Given the description of an element on the screen output the (x, y) to click on. 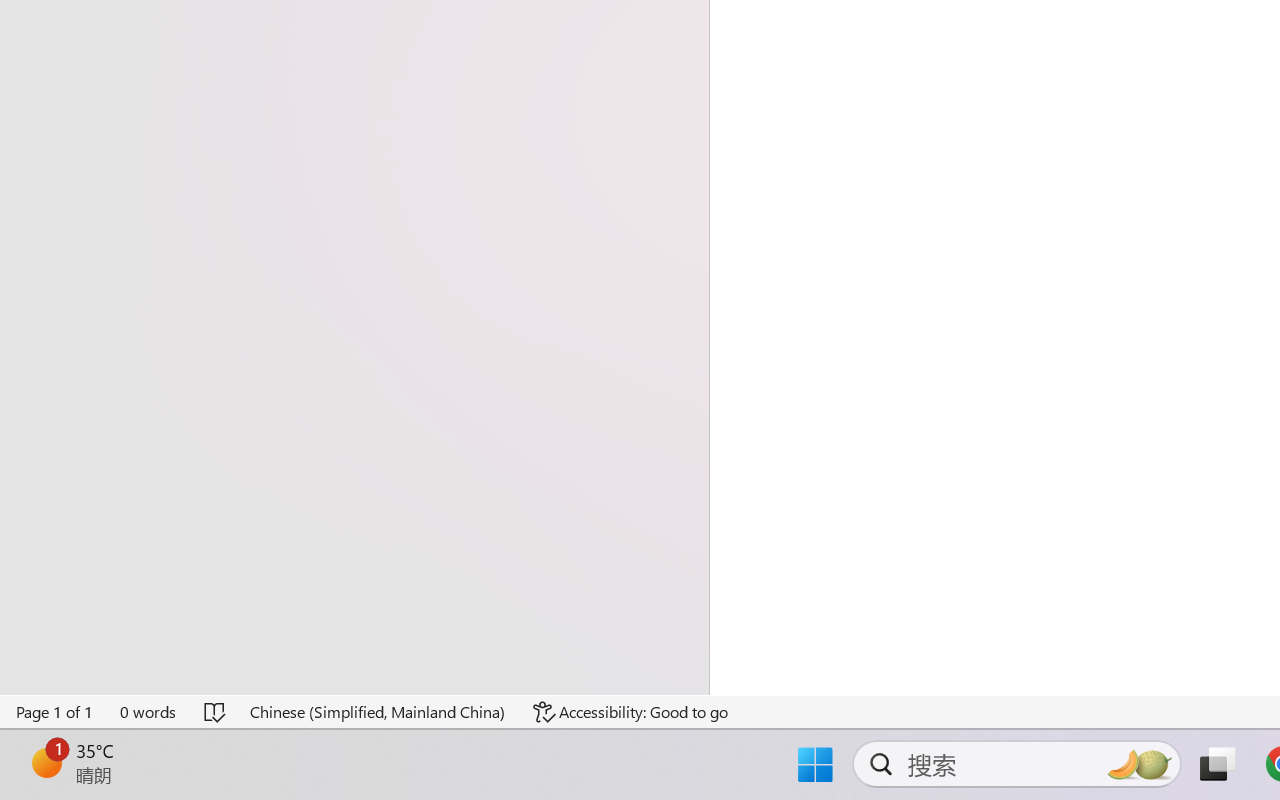
Language Chinese (Simplified, Mainland China) (378, 712)
